Given the description of an element on the screen output the (x, y) to click on. 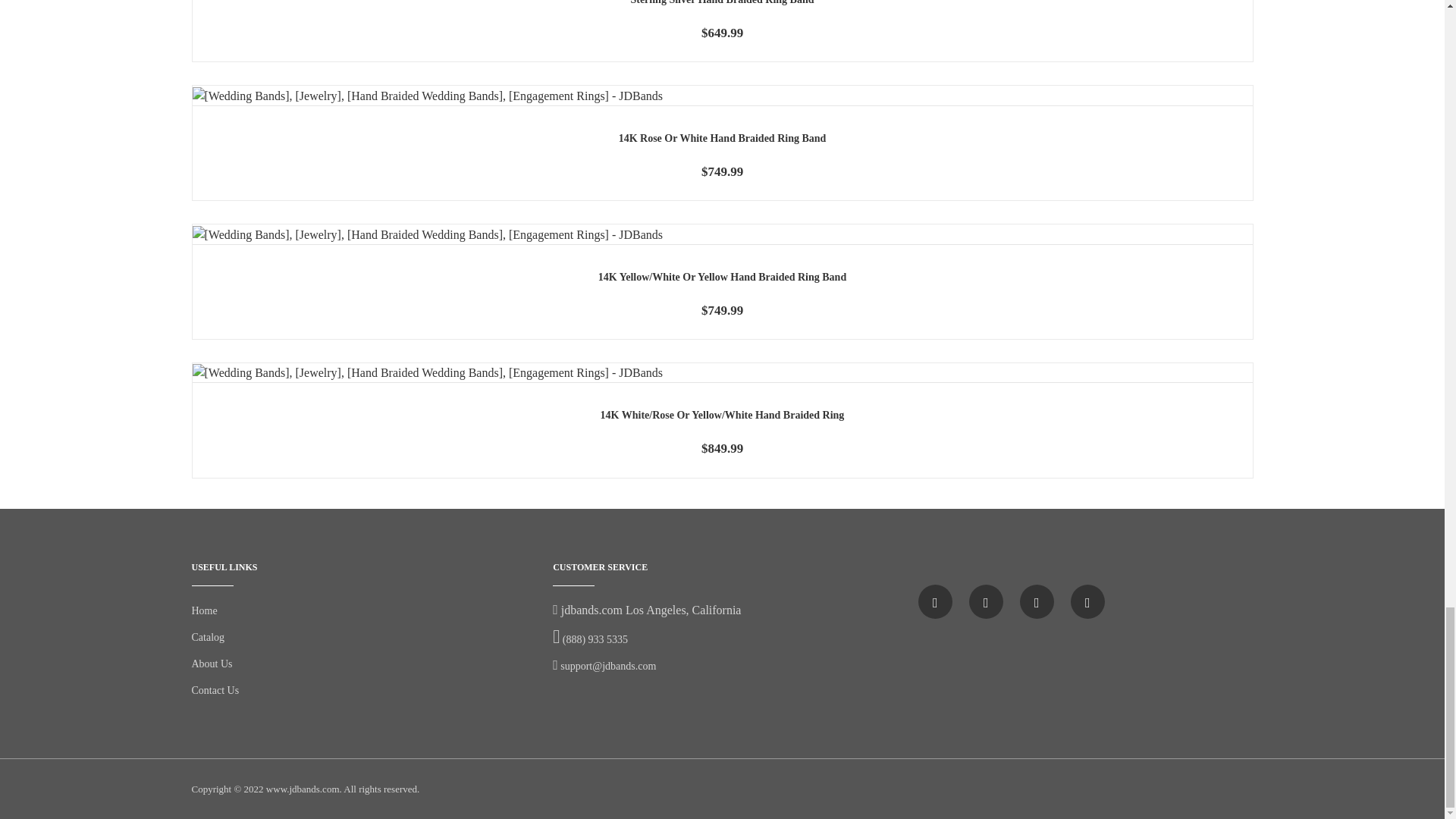
Home (203, 610)
Catalog (207, 636)
About Us (210, 663)
Contact Us (214, 690)
